Given the description of an element on the screen output the (x, y) to click on. 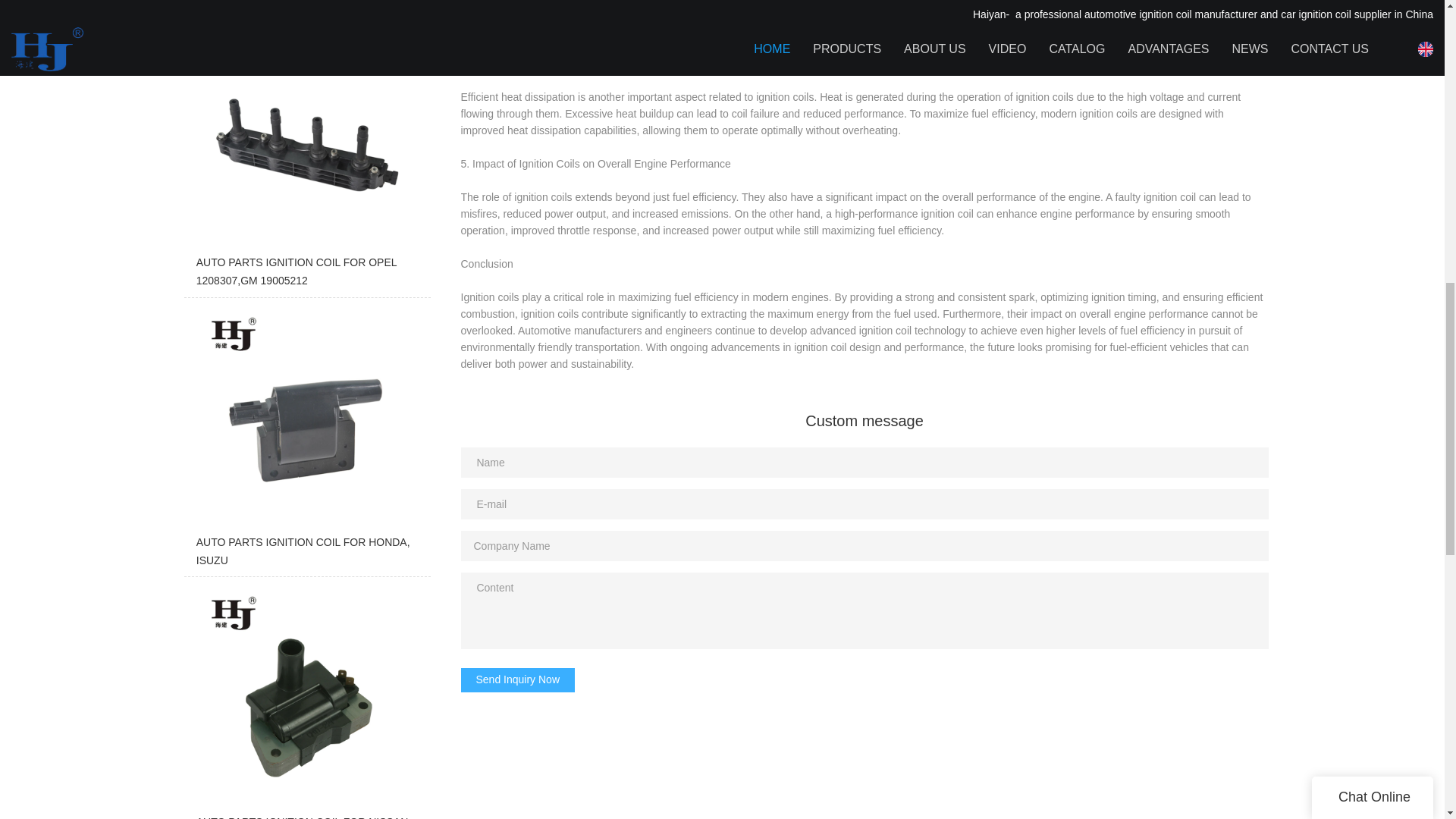
AUTO PARTS IGNITION COIL FOR HONDA, ISUZU (306, 441)
AUTO PARTS IGNITION COIL FOR OPEL 1208307,GM 19005212 (306, 161)
AUTO PARTS IGNITION COIL FOR NISSAN (306, 701)
Send Inquiry Now (518, 680)
